Given the description of an element on the screen output the (x, y) to click on. 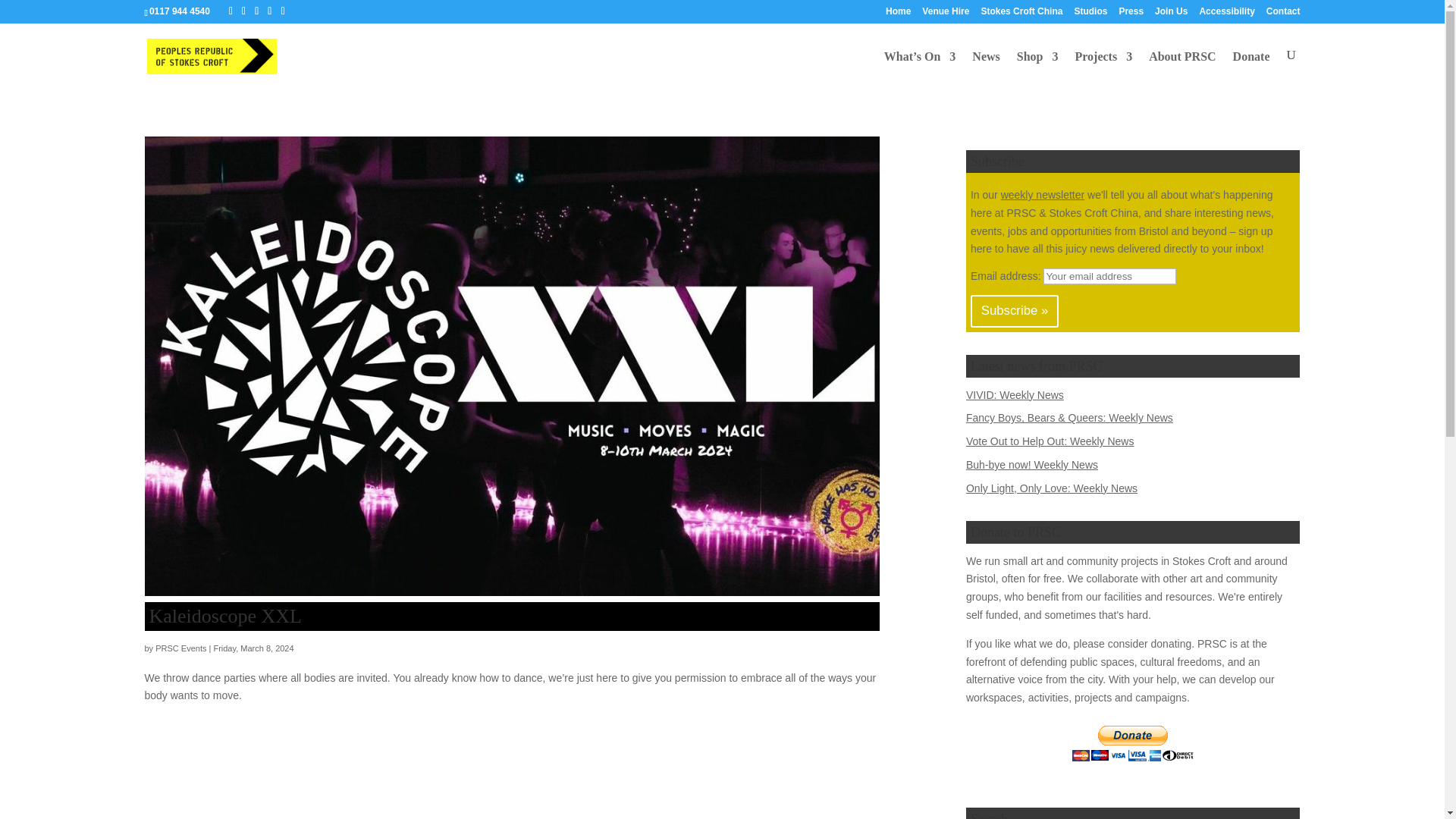
Home (898, 14)
Studios (1090, 14)
Stokes Croft China (1020, 14)
Posts by PRSC Events (180, 647)
Projects (1103, 68)
Venue Hire (945, 14)
PayPal - The safer, easier way to pay online! (1132, 743)
Accessibility (1225, 14)
Shop (1037, 68)
Contact (1283, 14)
Join Us (1171, 14)
Press (1130, 14)
